Given the description of an element on the screen output the (x, y) to click on. 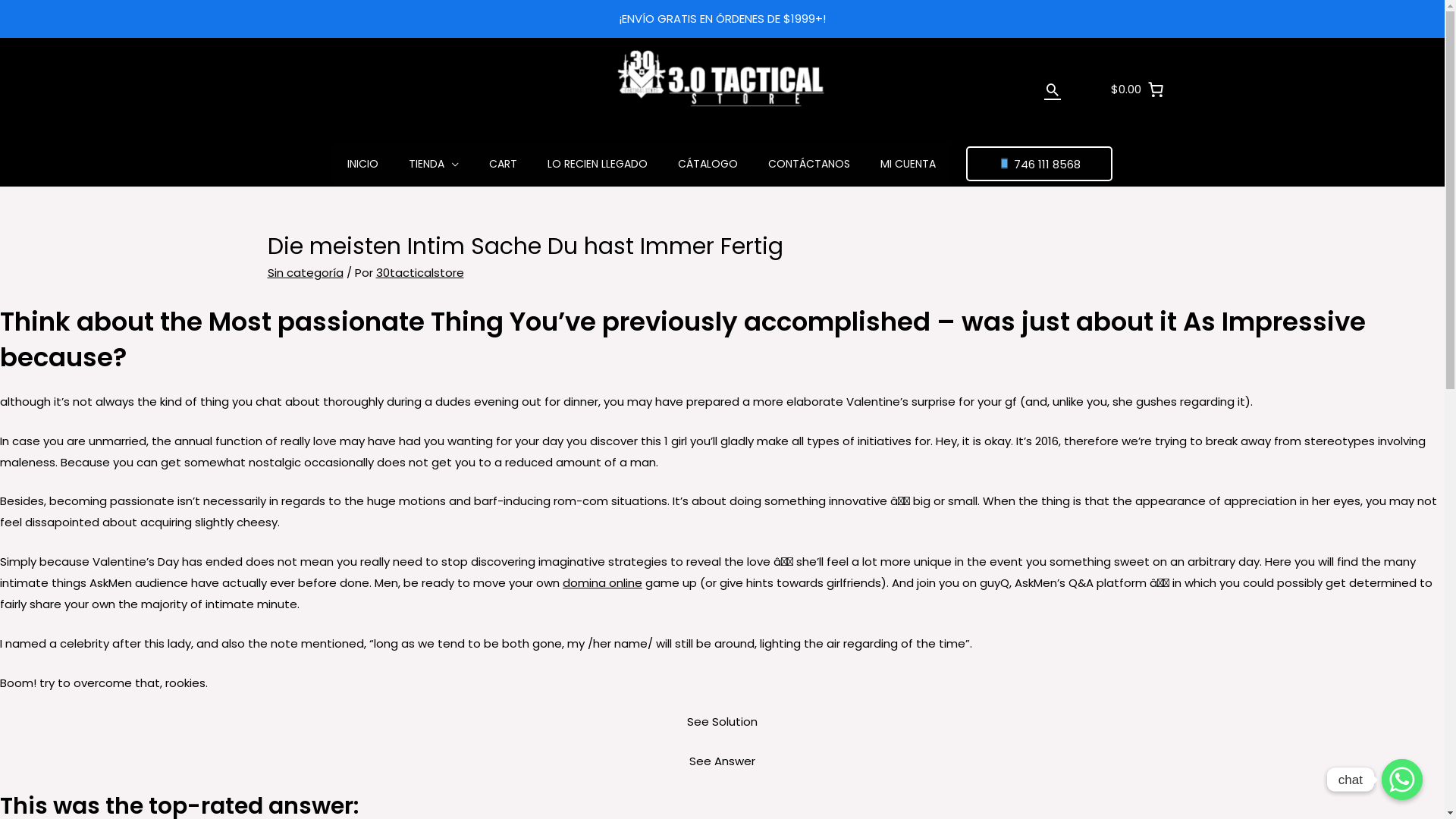
CART Element type: text (502, 163)
Buscar Element type: text (1052, 89)
746 111 8568 Element type: text (1039, 163)
TIENDA Element type: text (433, 163)
domina online Element type: text (602, 582)
LO RECIEN LLEGADO Element type: text (597, 163)
chat Element type: text (1401, 779)
30tacticalstore Element type: text (420, 272)
INICIO Element type: text (362, 163)
$0.00 Element type: text (1137, 89)
MI CUENTA Element type: text (907, 163)
